Given the description of an element on the screen output the (x, y) to click on. 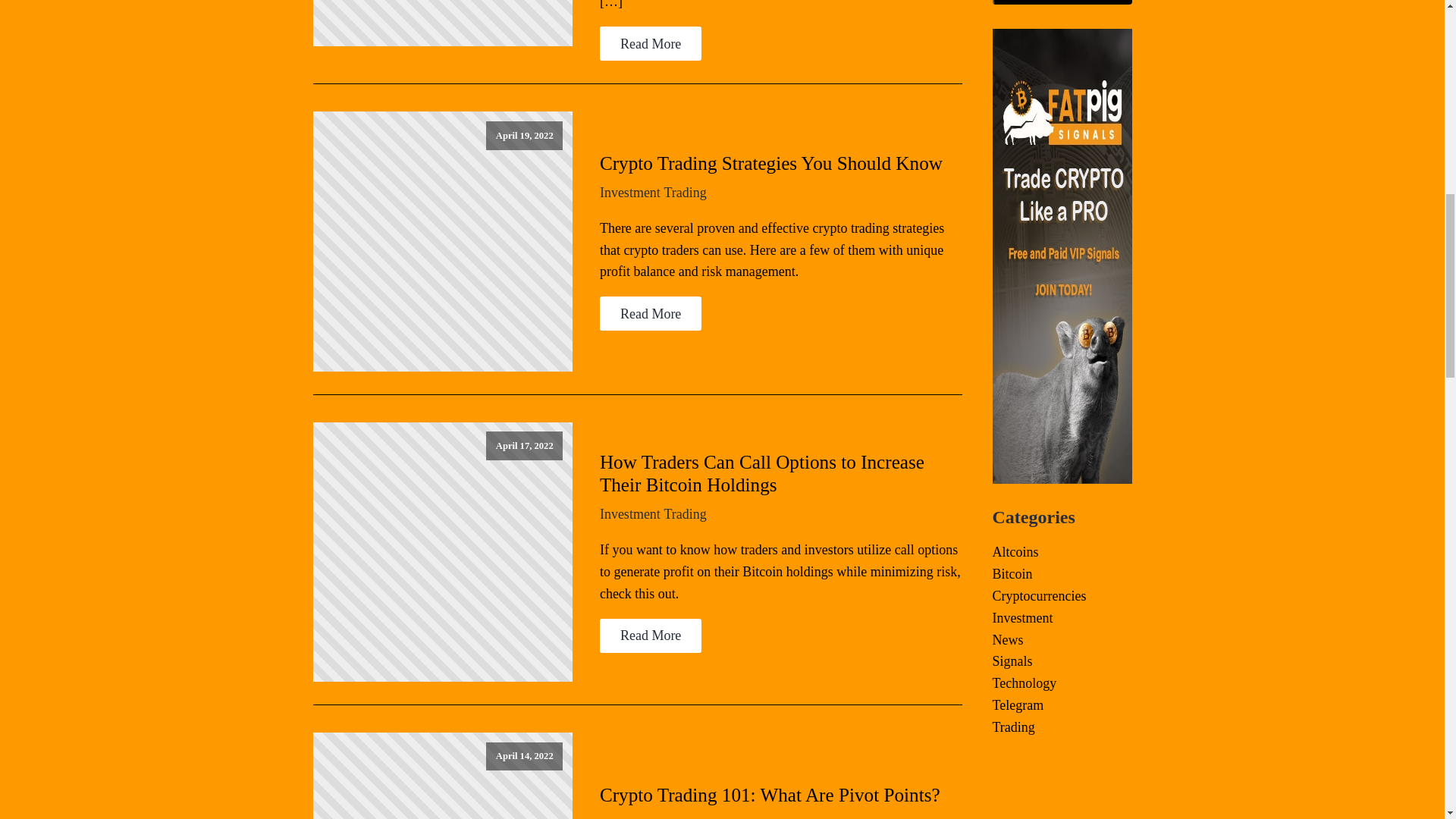
April 19, 2022 (442, 241)
Crypto Trading 101: What Are Pivot Points? (769, 794)
April 14, 2022 (442, 775)
Investment (630, 192)
Read More (650, 313)
Trading (664, 817)
Search (1061, 2)
Crypto Trading Strategies You Should Know (770, 163)
April 17, 2022 (442, 551)
